Given the description of an element on the screen output the (x, y) to click on. 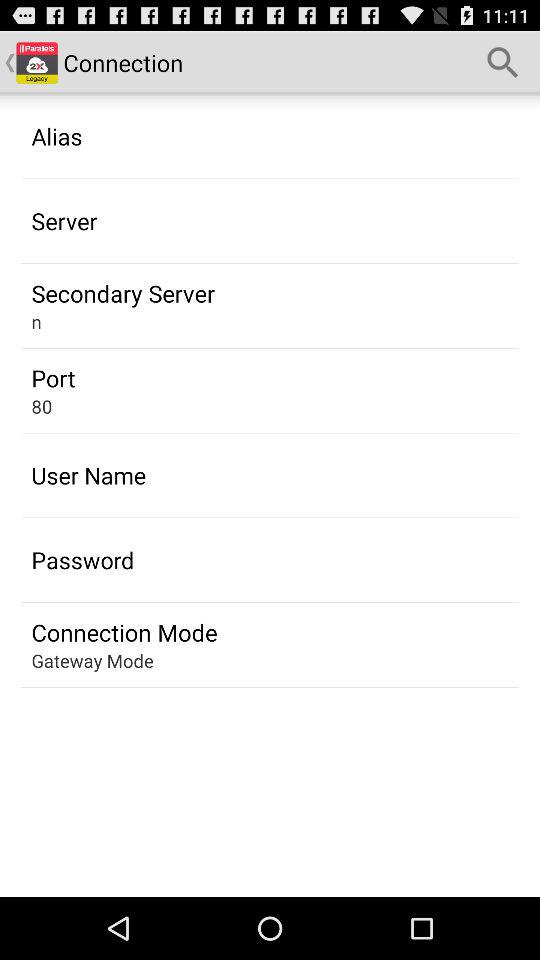
tap gateway mode app (92, 660)
